Given the description of an element on the screen output the (x, y) to click on. 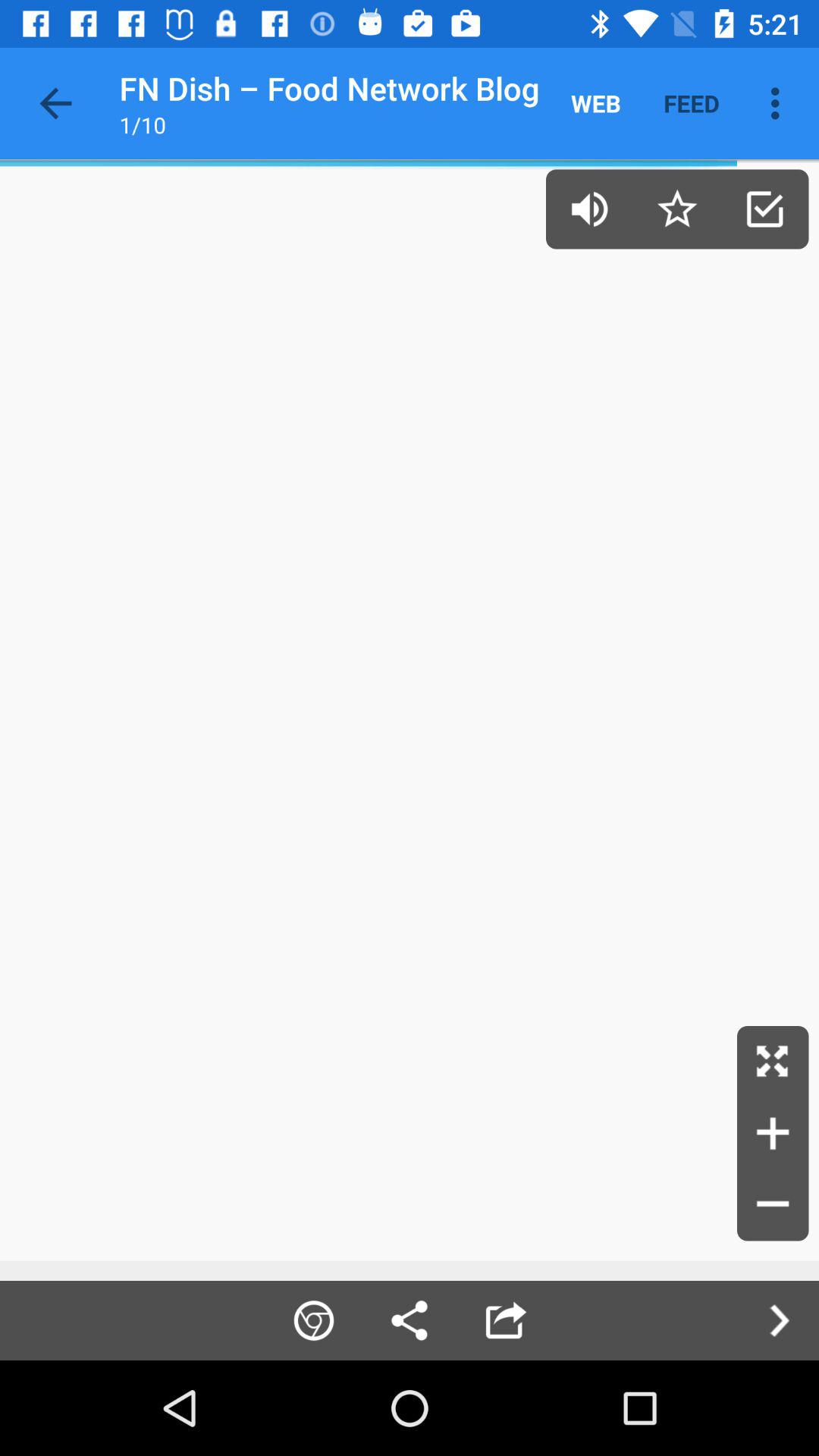
turn off web (595, 103)
